Given the description of an element on the screen output the (x, y) to click on. 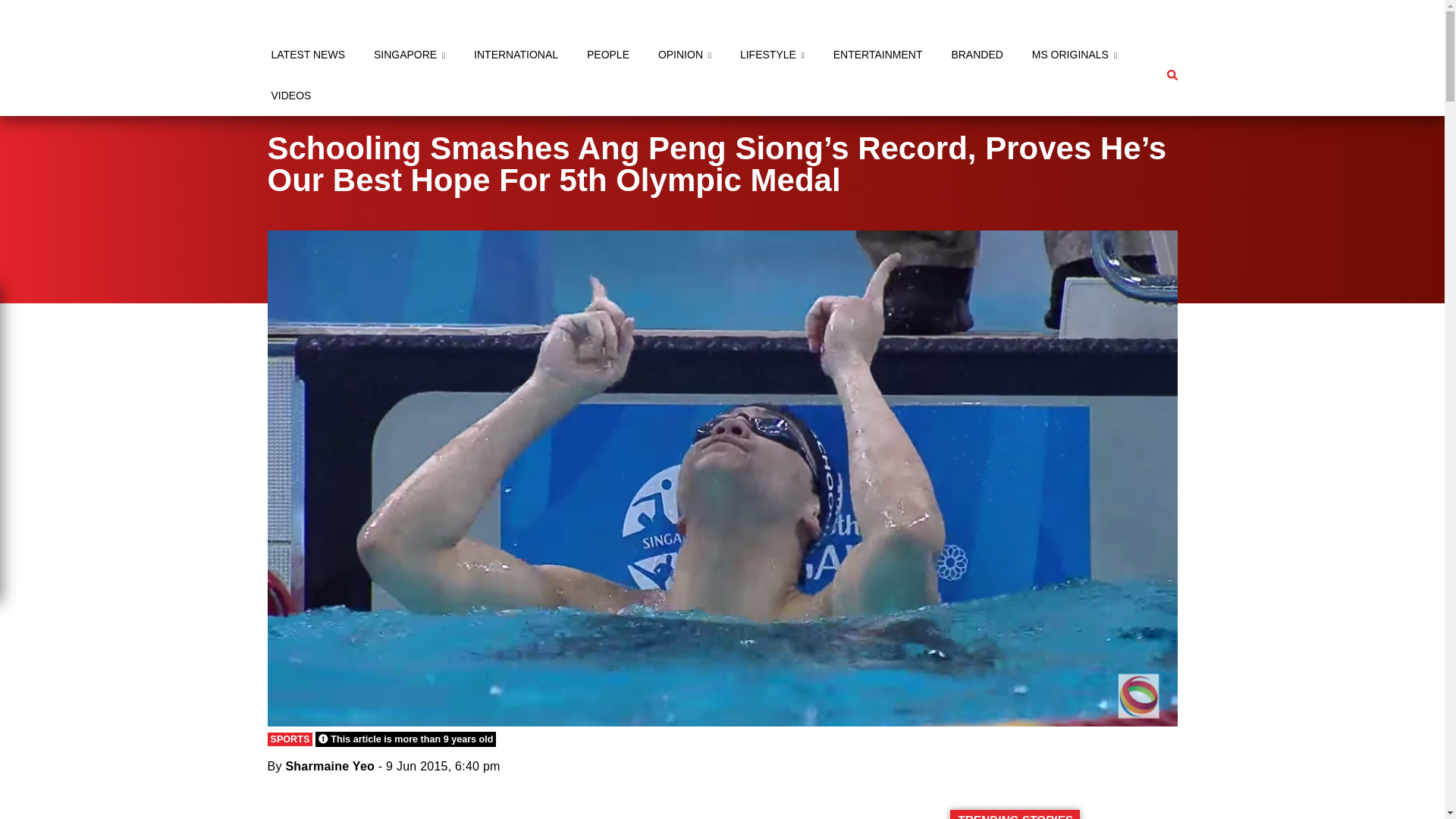
LIFESTYLE (772, 55)
View all posts in Sports (289, 739)
BRANDED (976, 55)
MS ORIGINALS (1074, 55)
VIDEOS (290, 96)
ENTERTAINMENT (877, 55)
PEOPLE (608, 55)
SINGAPORE (408, 55)
INTERNATIONAL (516, 55)
Posts by Sharmaine Yeo (329, 766)
